Given the description of an element on the screen output the (x, y) to click on. 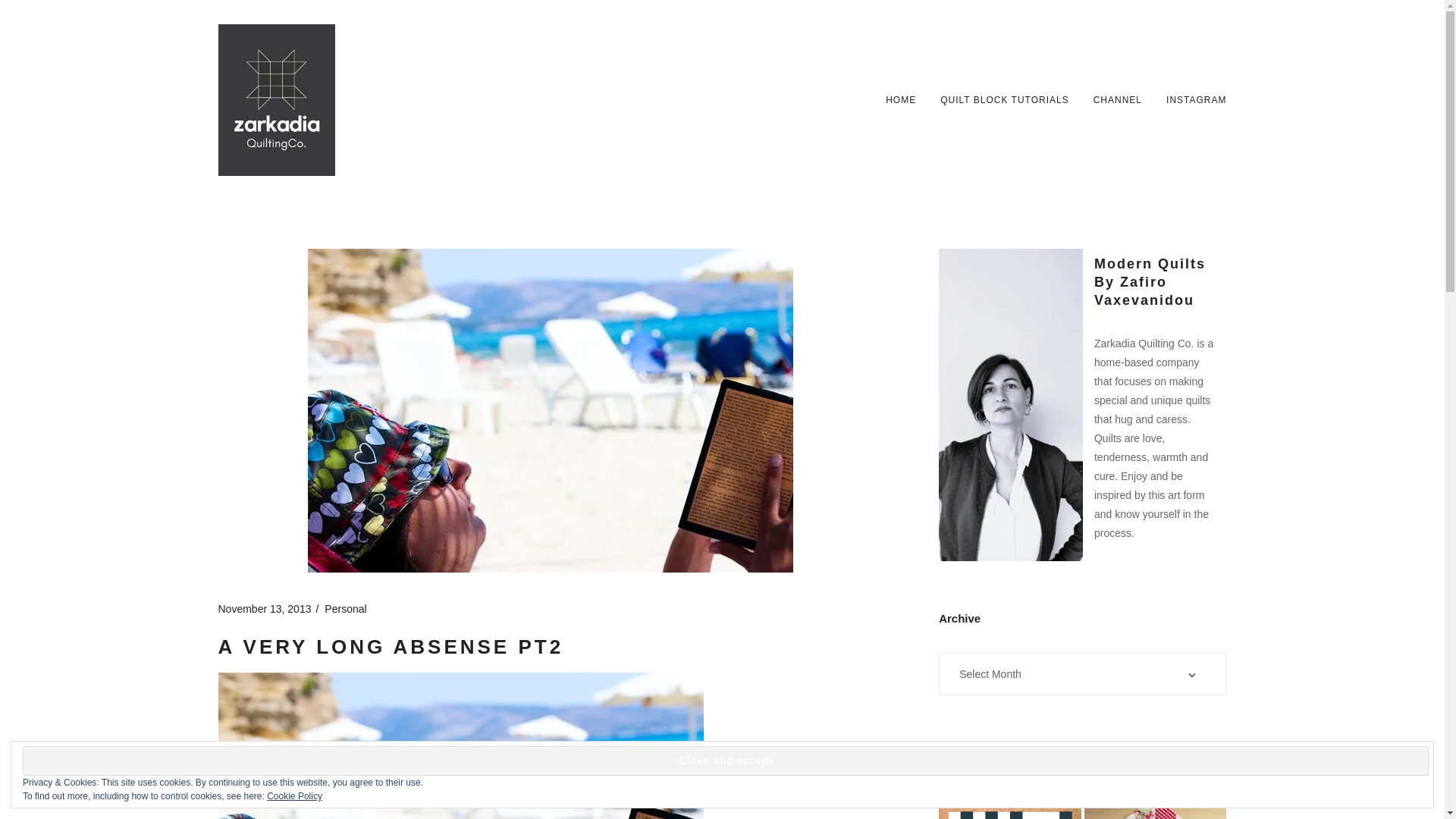
HOME (900, 100)
Close and accept (725, 760)
QUILT BLOCK TUTORIALS (1004, 100)
Close and accept (725, 760)
Double Irish Chain (1010, 803)
CHANNEL (1117, 100)
INSTAGRAM (1195, 100)
Cookie Policy (293, 796)
Personal (345, 608)
Farmer's Wife QAL: Week 6 (1155, 803)
